Given the description of an element on the screen output the (x, y) to click on. 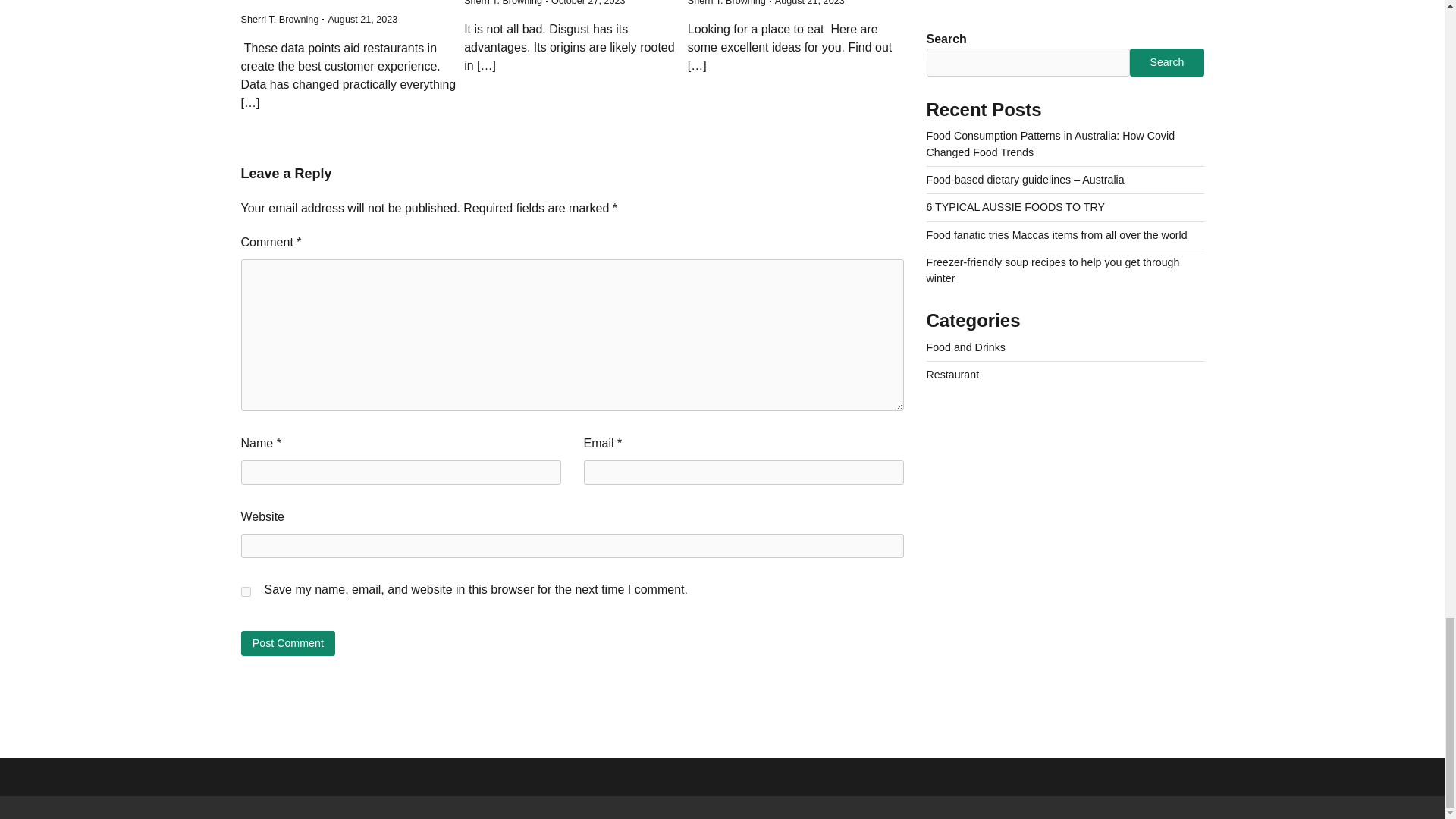
Sherri T. Browning (726, 2)
Sherri T. Browning (502, 2)
Sherri T. Browning (279, 19)
Post Comment (288, 643)
yes (245, 592)
Post Comment (288, 643)
